Given the description of an element on the screen output the (x, y) to click on. 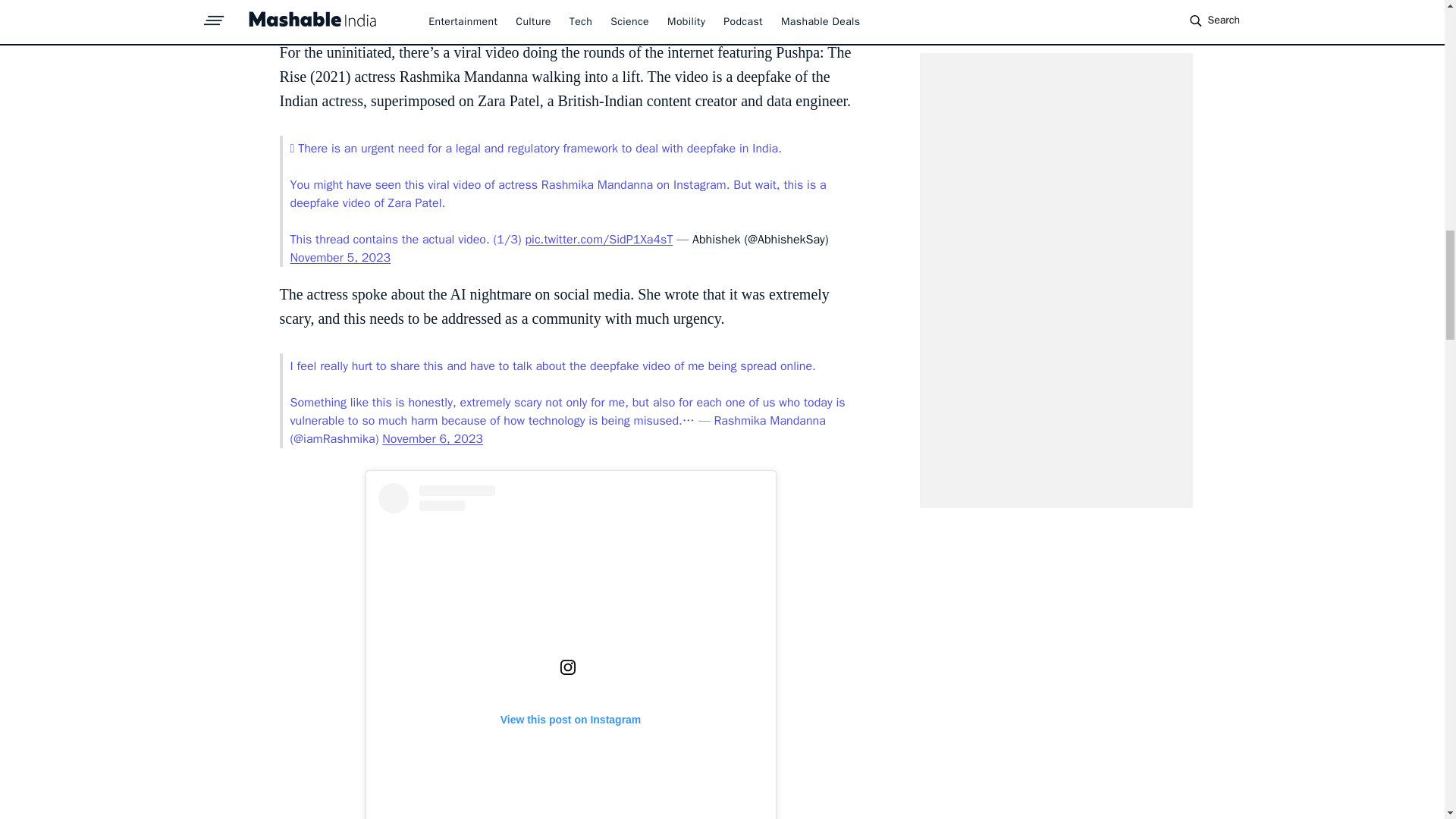
View this post on Instagram (569, 651)
November 5, 2023 (339, 257)
November 6, 2023 (432, 438)
